Given the description of an element on the screen output the (x, y) to click on. 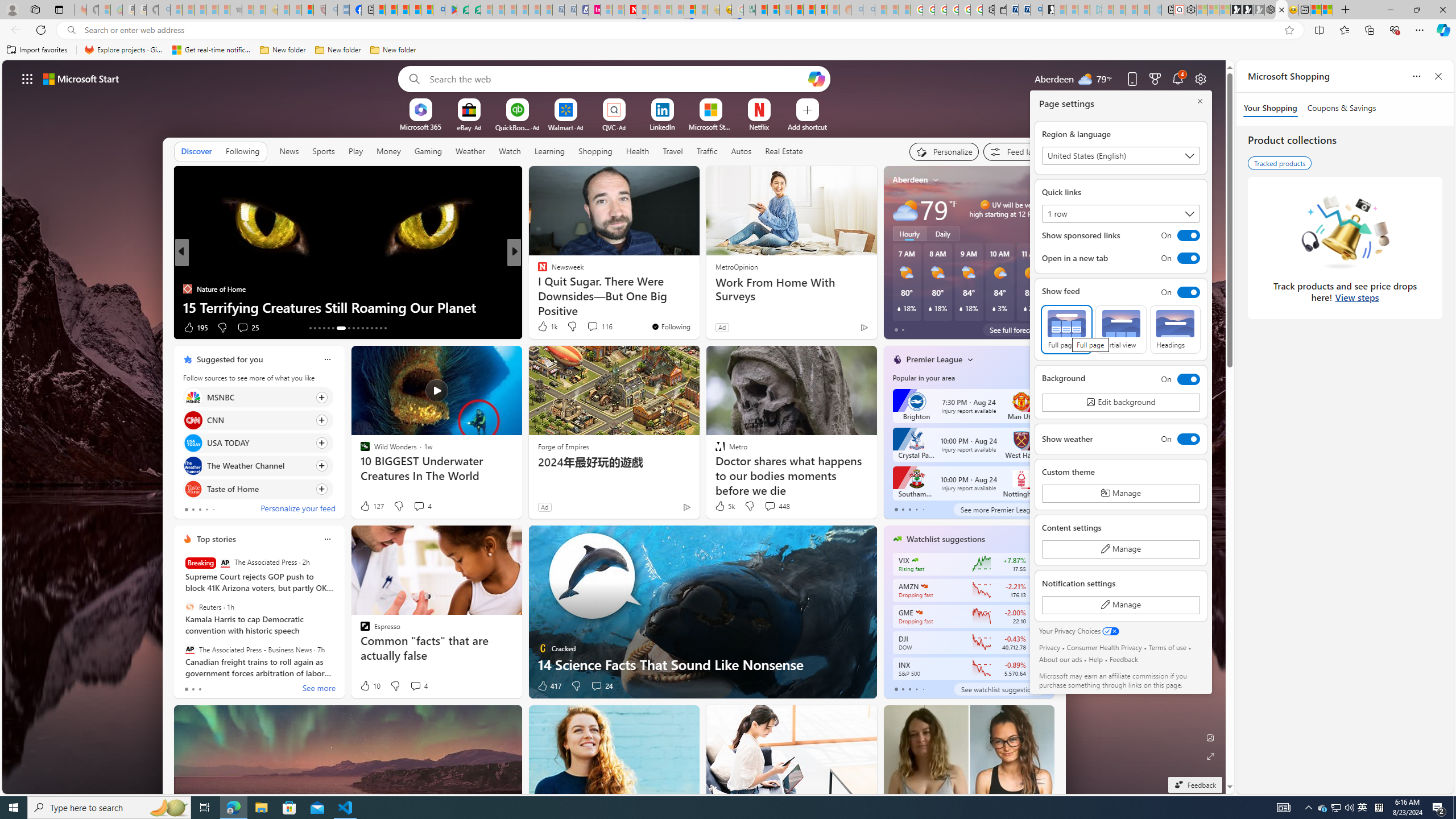
AutomationID: tab-22 (358, 328)
Nordace (545, 288)
View comments 18 Comment (592, 327)
127 Like (370, 505)
Consumer Health Privacy (1103, 646)
Add a site (807, 126)
Enter your search term (617, 78)
15 Terrifying Creatures Still Roaming Our Planet (347, 307)
View comments 48 Comment (597, 327)
Dagens News (US) (537, 288)
